Given the description of an element on the screen output the (x, y) to click on. 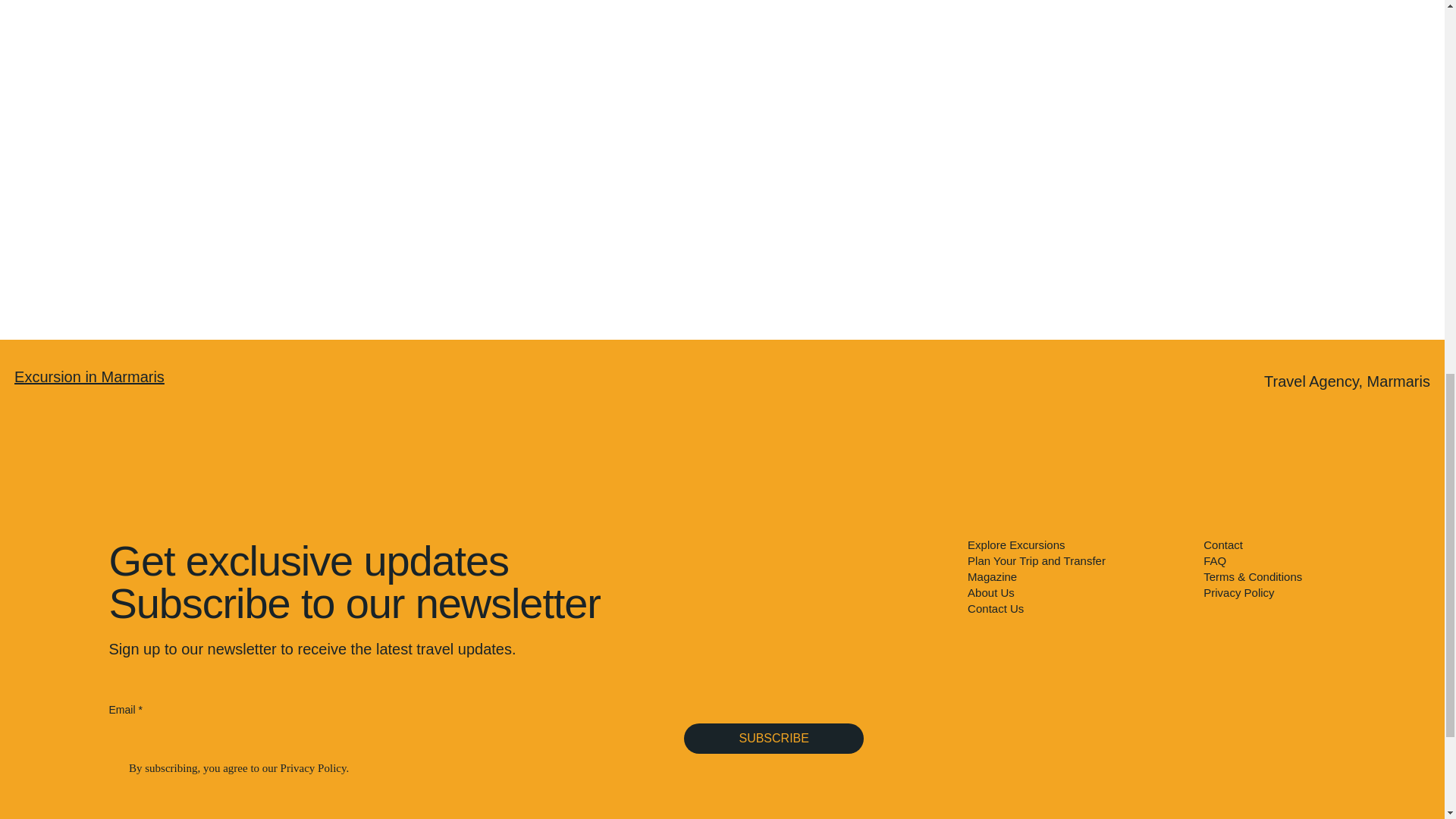
Plan Your Trip and Transfer (1076, 560)
Contact (1223, 544)
About Us (1076, 592)
Magazine (1076, 576)
Privacy Policy (1239, 592)
Explore Excursions (1076, 544)
Excursion in Marmaris (89, 376)
Contact Us (1076, 608)
SUBSCRIBE (773, 738)
